Given the description of an element on the screen output the (x, y) to click on. 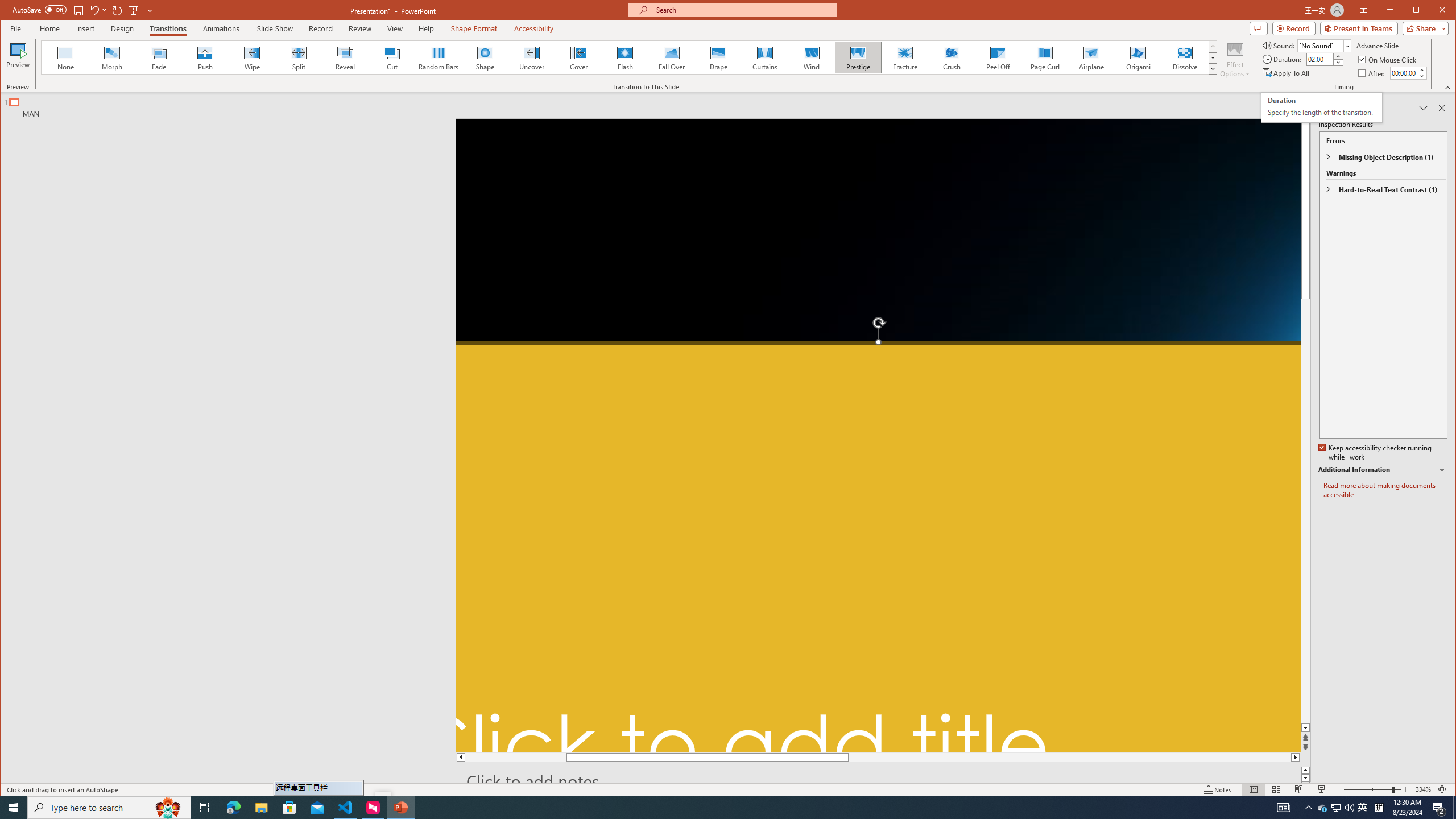
Wind (810, 57)
Apply To All (1286, 72)
After (1403, 72)
